Given the description of an element on the screen output the (x, y) to click on. 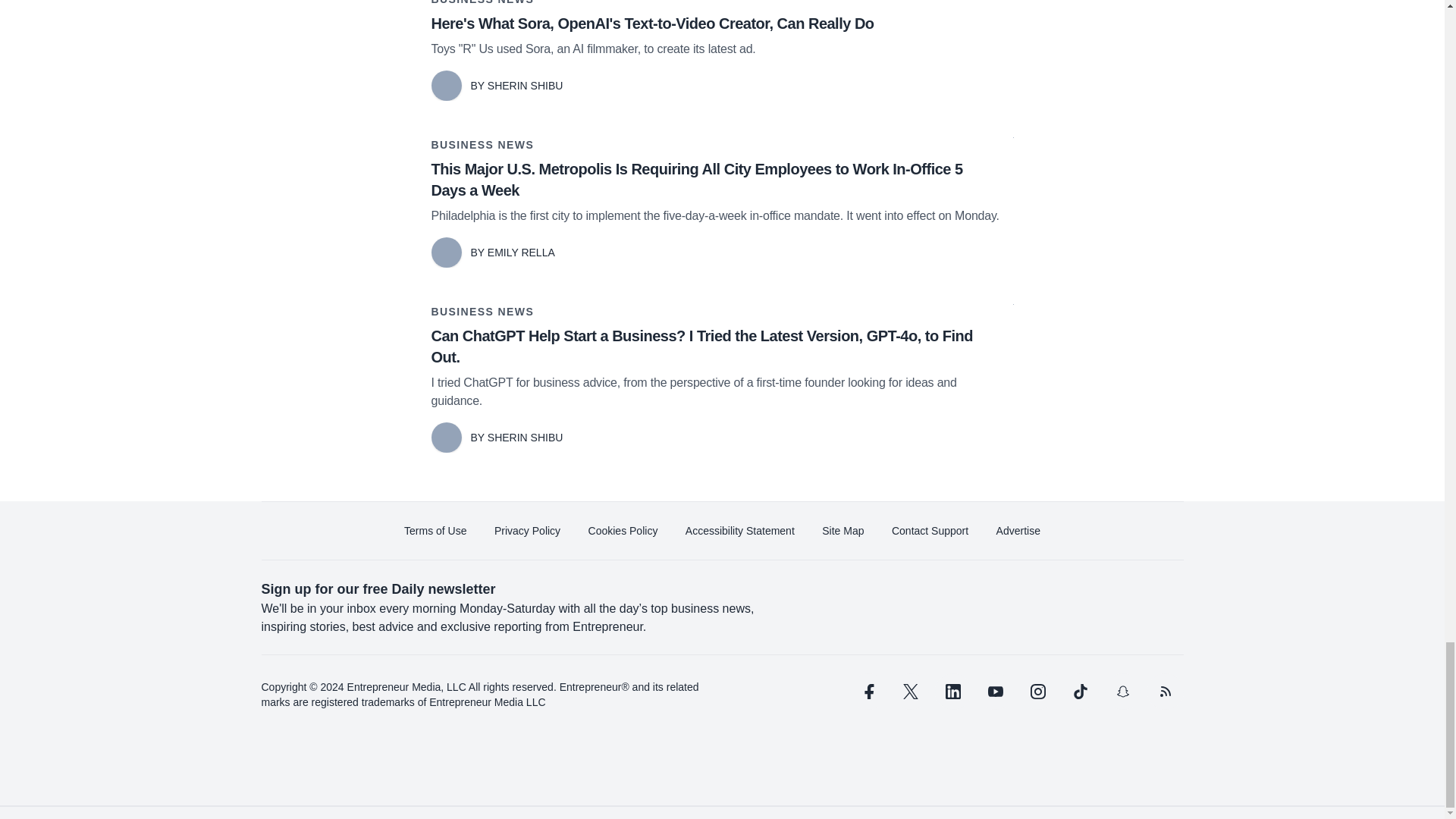
twitter (909, 691)
snapchat (1121, 691)
youtube (994, 691)
tiktok (1079, 691)
instagram (1037, 691)
facebook (866, 691)
linkedin (952, 691)
